Given the description of an element on the screen output the (x, y) to click on. 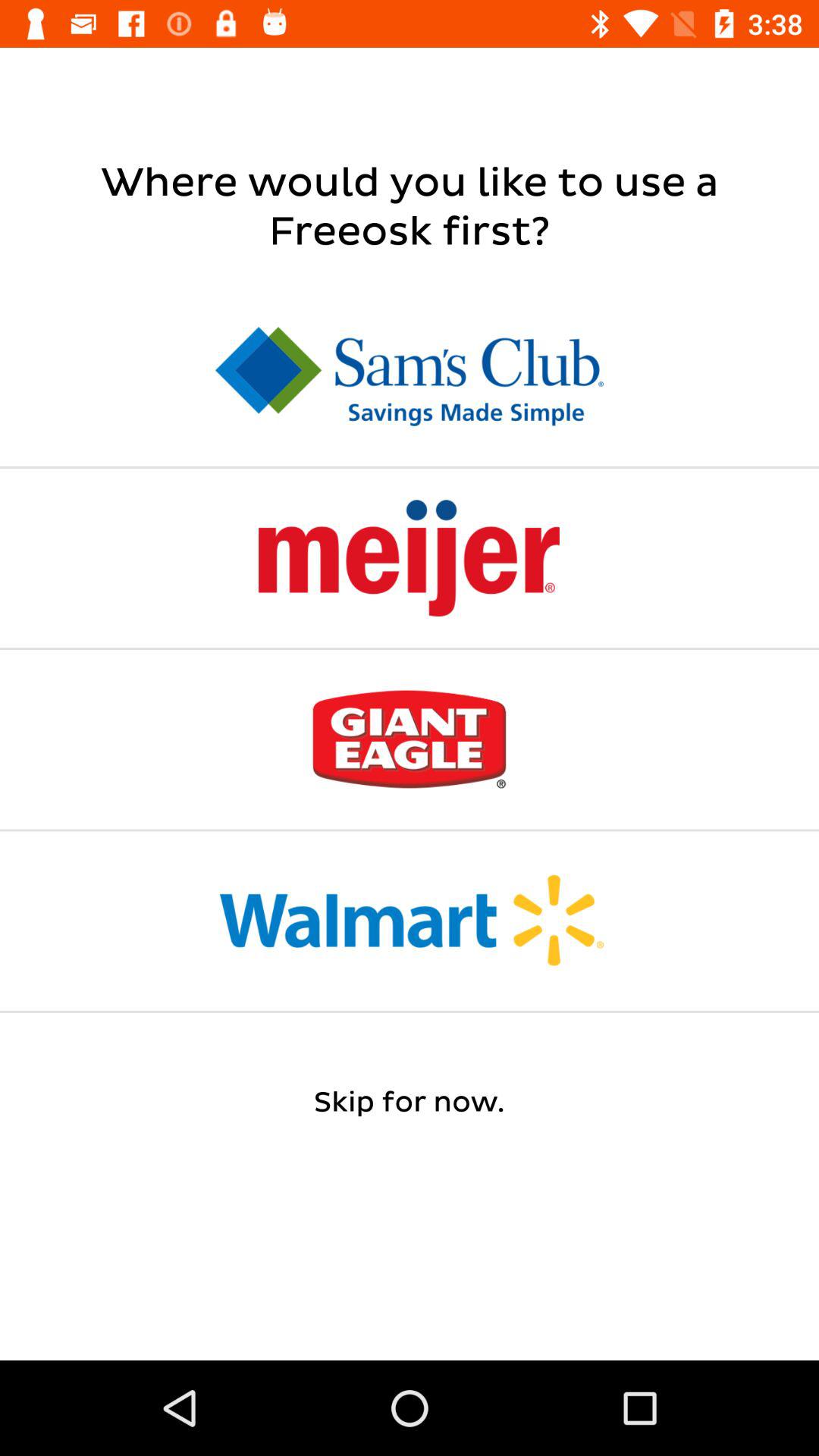
choose skip for now. item (409, 1102)
